Given the description of an element on the screen output the (x, y) to click on. 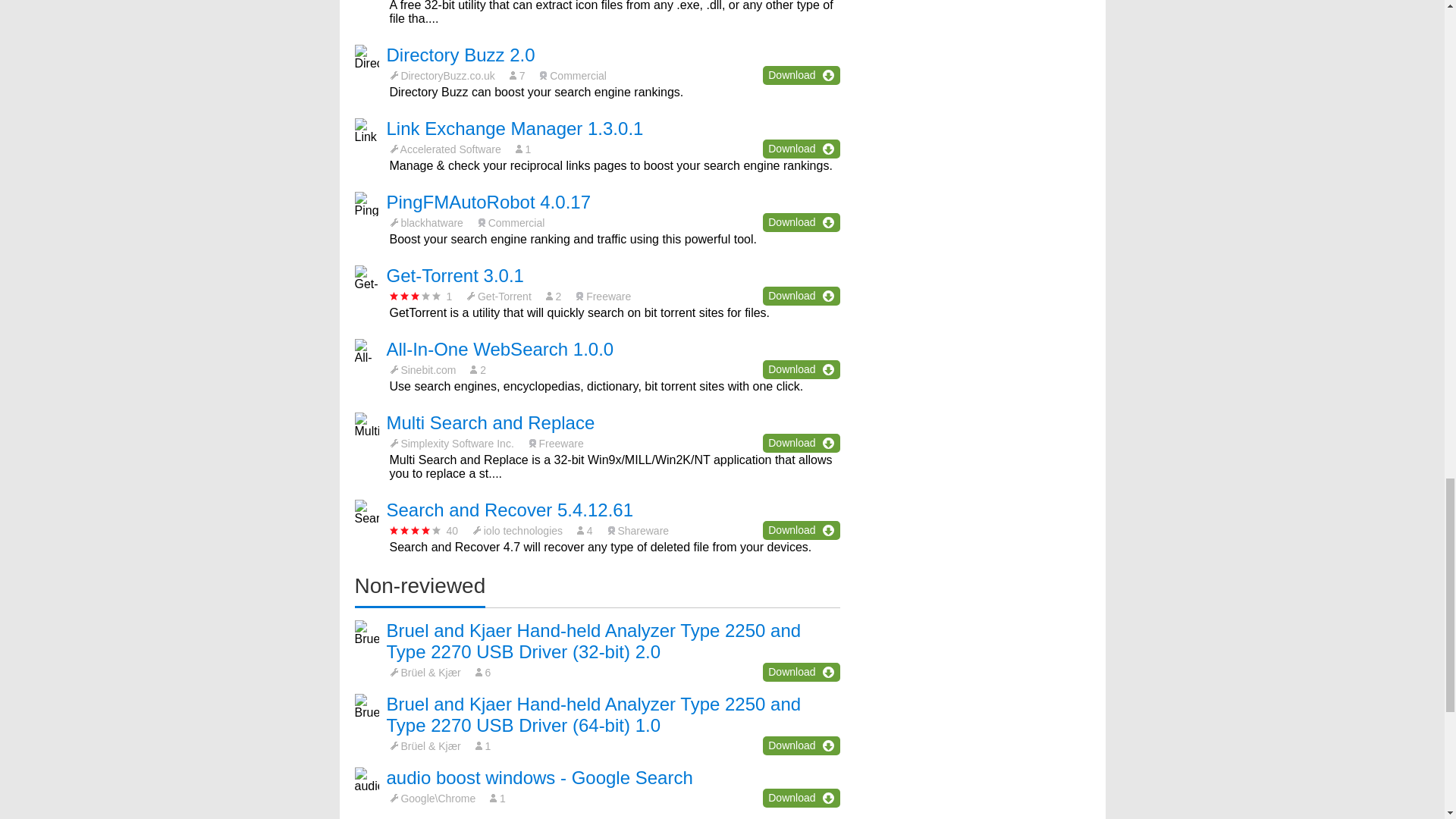
PingFMAutoRobot 4.0.17 (489, 201)
Link Exchange Manager 1.3.0.1 (515, 127)
Directory Buzz 2.0 (461, 55)
Download (801, 221)
Download (801, 148)
Directory Buzz 2.0 (461, 55)
Download (801, 75)
Download (801, 295)
Get-Torrent 3.0.1 (455, 275)
